Given the description of an element on the screen output the (x, y) to click on. 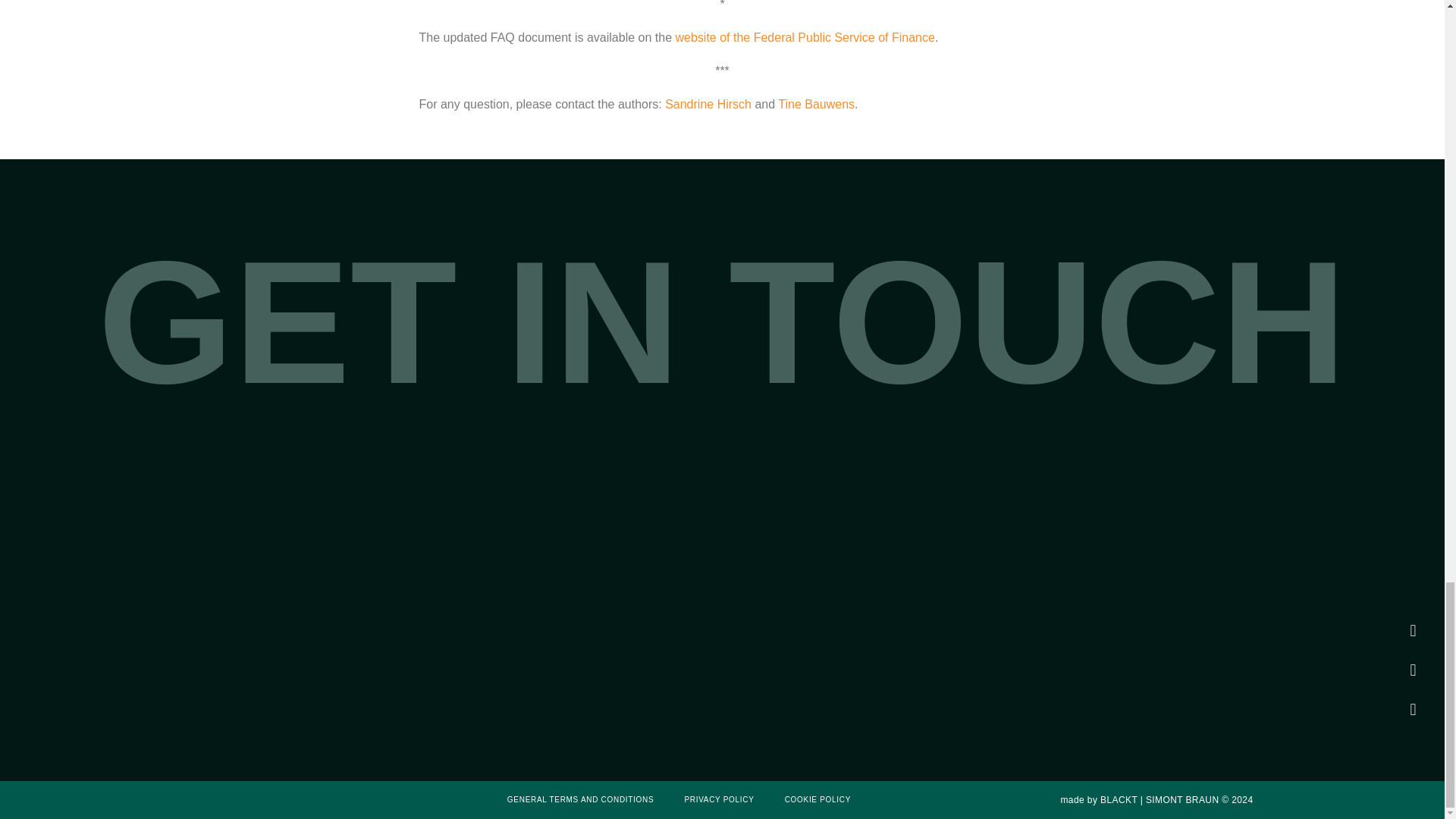
PRIVACY POLICY (719, 799)
COOKIE POLICY (817, 799)
website of the Federal Public Service of Finance (804, 37)
Sandrine Hirsch (708, 103)
GENERAL TERMS AND CONDITIONS (579, 799)
Tine Bauwens (815, 103)
